Given the description of an element on the screen output the (x, y) to click on. 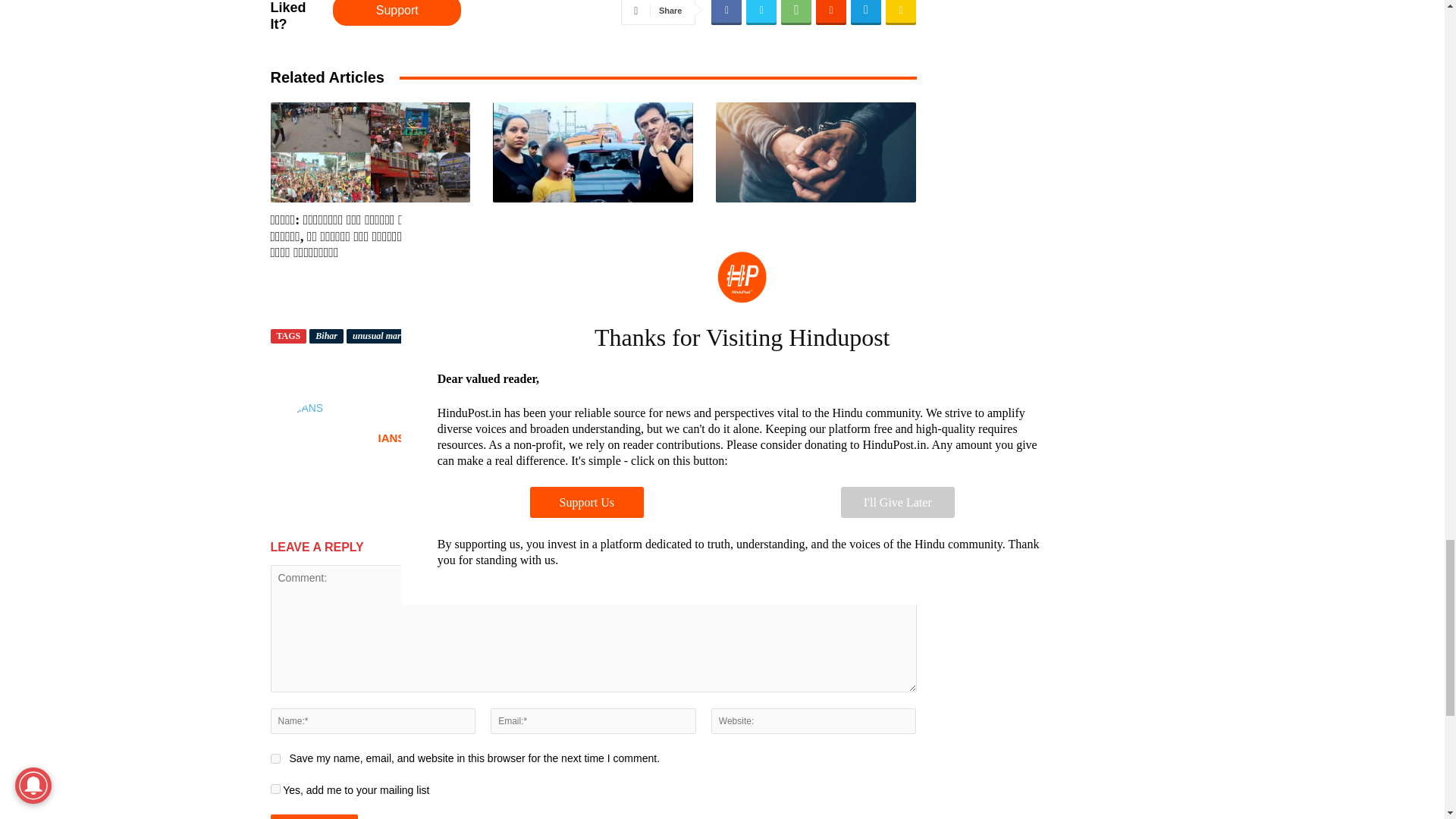
yes (274, 758)
1 (274, 788)
Post Comment (313, 816)
